Given the description of an element on the screen output the (x, y) to click on. 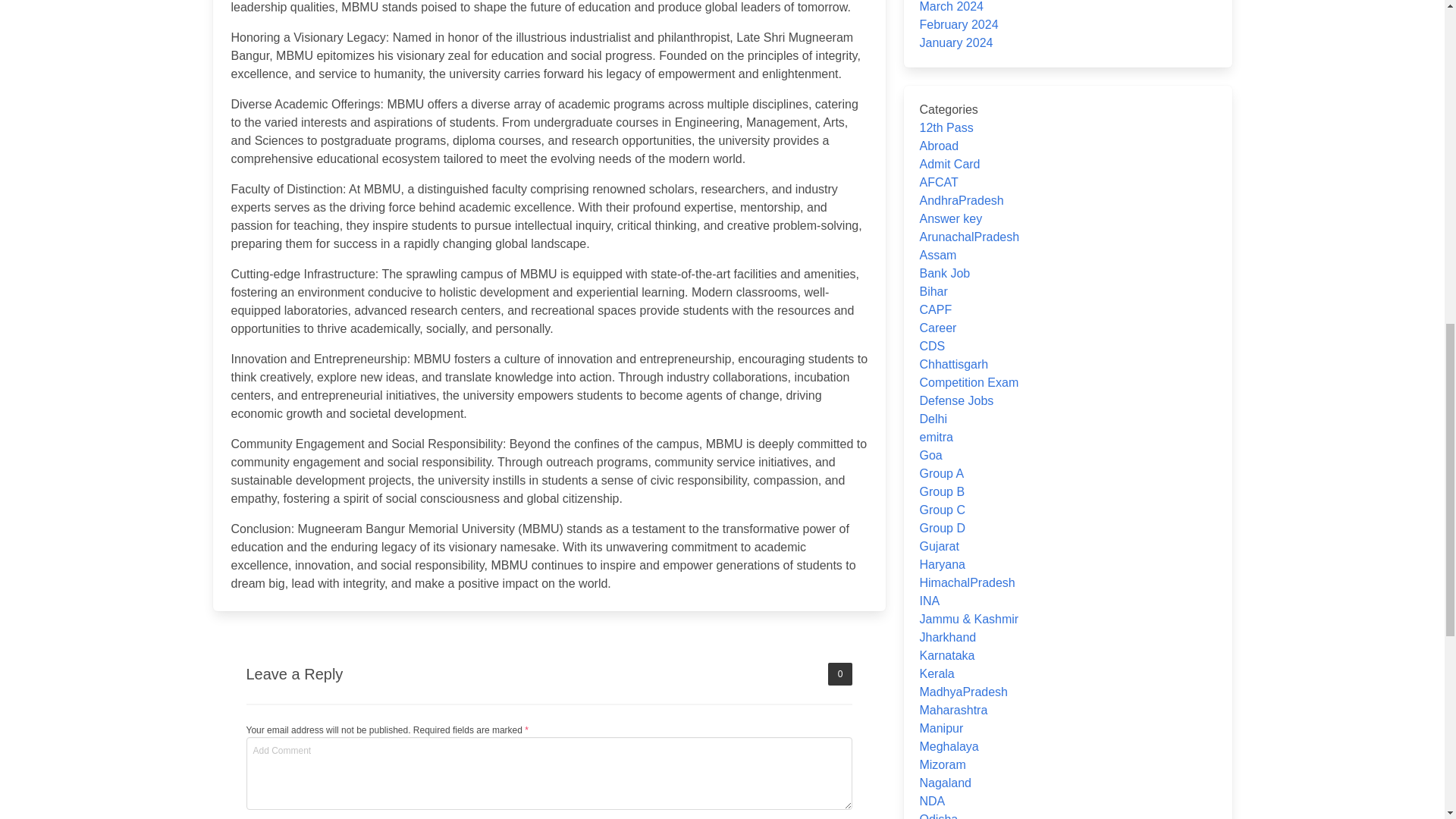
Answer key (949, 218)
AndhraPradesh (960, 200)
January 2024 (955, 42)
Abroad (938, 145)
Admit Card (948, 164)
AFCAT (938, 182)
Assam (937, 254)
12th Pass (945, 127)
February 2024 (957, 24)
March 2024 (951, 6)
Bihar (932, 291)
ArunachalPradesh (968, 236)
Bank Job (943, 273)
